Given the description of an element on the screen output the (x, y) to click on. 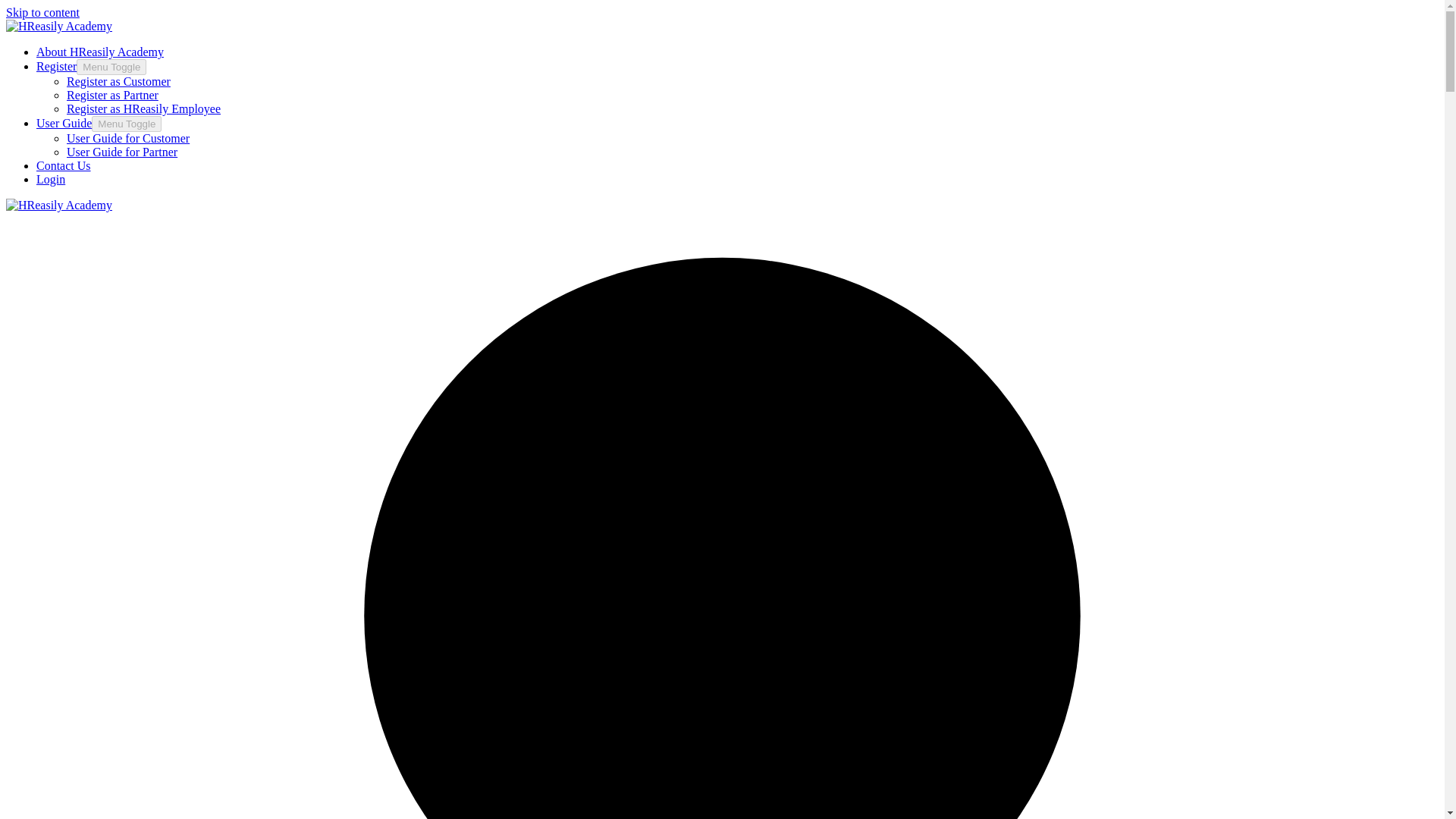
Register as Customer (118, 81)
User Guide (63, 123)
Register as HReasily Employee (143, 108)
Login (50, 178)
Register (56, 65)
About HReasily Academy (99, 51)
Menu Toggle (112, 66)
Contact Us (63, 164)
Menu Toggle (126, 123)
User Guide for Customer (127, 137)
Register as Partner (112, 94)
Skip to content (42, 11)
User Guide for Partner (121, 151)
